Given the description of an element on the screen output the (x, y) to click on. 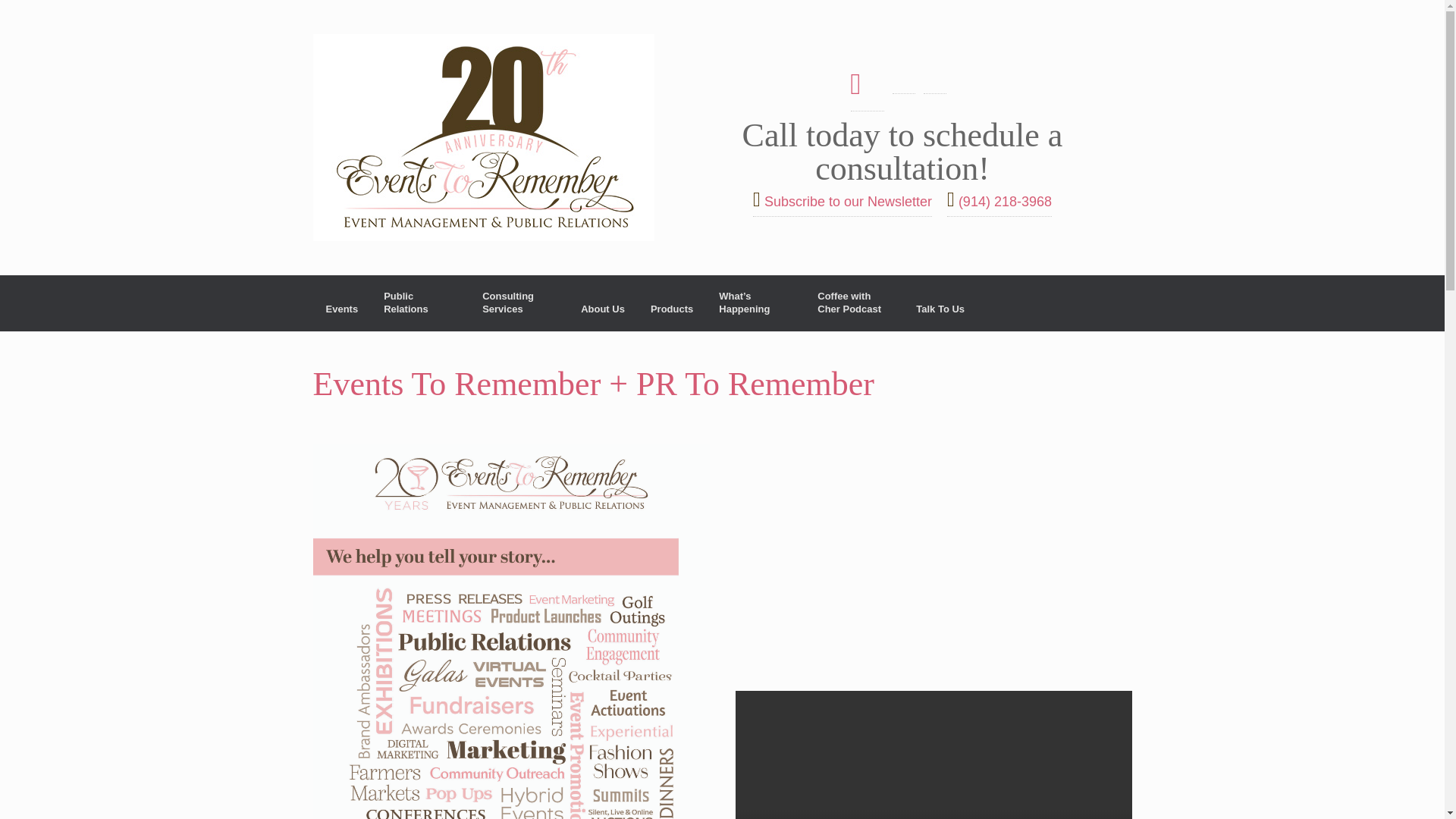
Talk To Us (939, 309)
Products (671, 309)
Public Relations (419, 303)
Events To Remember (483, 137)
Subscribe to our Newsletter (841, 201)
Events (342, 309)
Coffee with Cher Podcast (853, 303)
Consulting Services (517, 303)
About Us (602, 309)
